Given the description of an element on the screen output the (x, y) to click on. 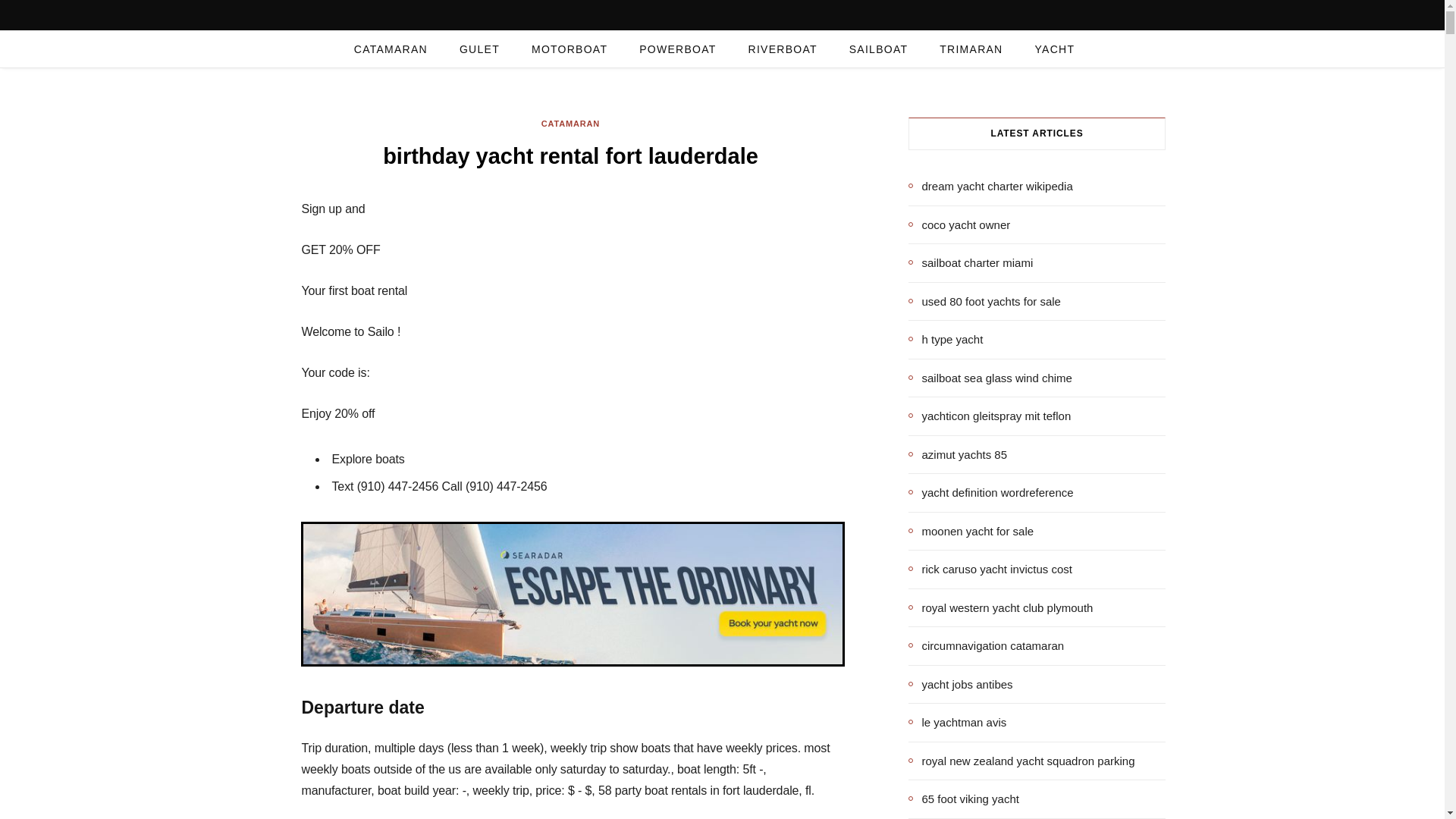
GULET (479, 48)
CATAMARAN (390, 48)
rick caruso yacht invictus cost (989, 569)
azimut yachts 85 (957, 454)
royal new zealand yacht squadron parking (1021, 760)
le yachtman avis (957, 722)
TRIMARAN (970, 48)
coco yacht owner (959, 225)
sailboat charter miami (970, 262)
YACHT (1053, 48)
used 80 foot yachts for sale (984, 301)
CATAMARAN (570, 123)
sailboat sea glass wind chime (989, 378)
dream yacht charter wikipedia (990, 186)
SAILBOAT (878, 48)
